Given the description of an element on the screen output the (x, y) to click on. 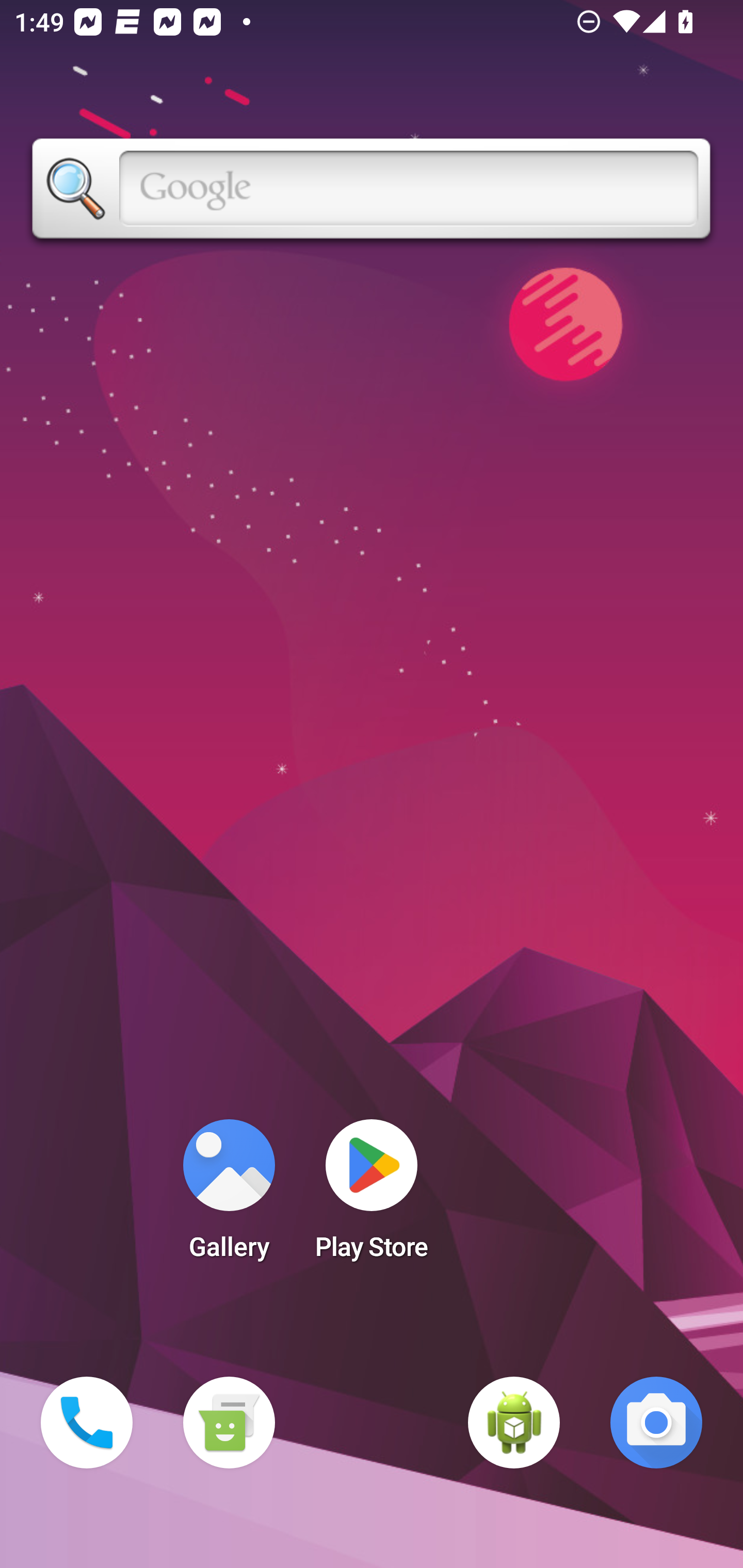
Gallery (228, 1195)
Play Store (371, 1195)
Phone (86, 1422)
Messaging (228, 1422)
WebView Browser Tester (513, 1422)
Camera (656, 1422)
